Given the description of an element on the screen output the (x, y) to click on. 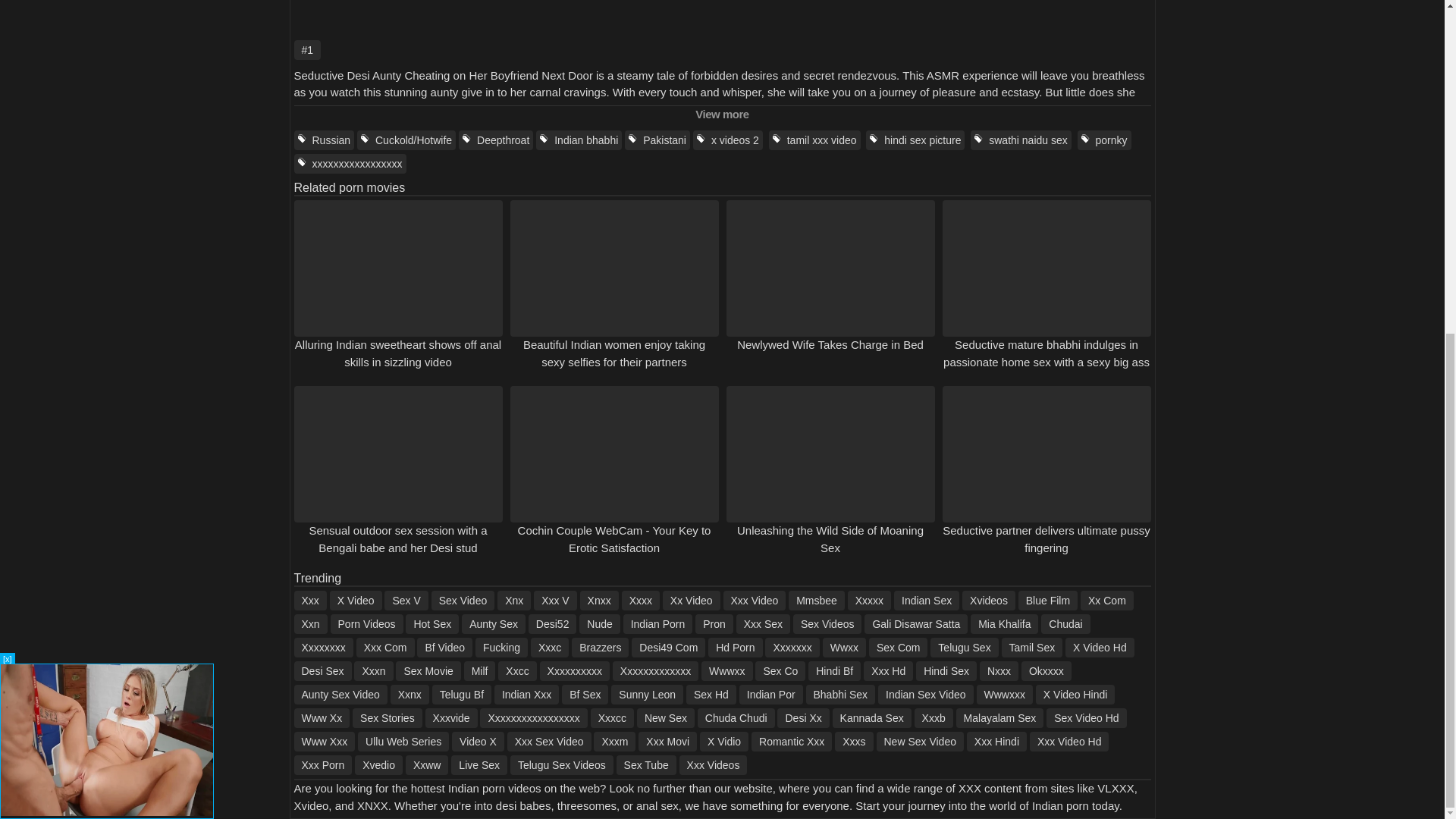
tamil xxx video (814, 139)
Deepthroat (495, 139)
Pakistani (657, 139)
xxxxxxxxxxxxxxxxx (350, 163)
x videos 2 (727, 139)
swathi naidu sex (1021, 139)
View more (722, 114)
Deepthroat (495, 139)
hindi sex picture (914, 139)
pornky (1104, 139)
Newlywed Wife Takes Charge in Bed (829, 344)
